Given the description of an element on the screen output the (x, y) to click on. 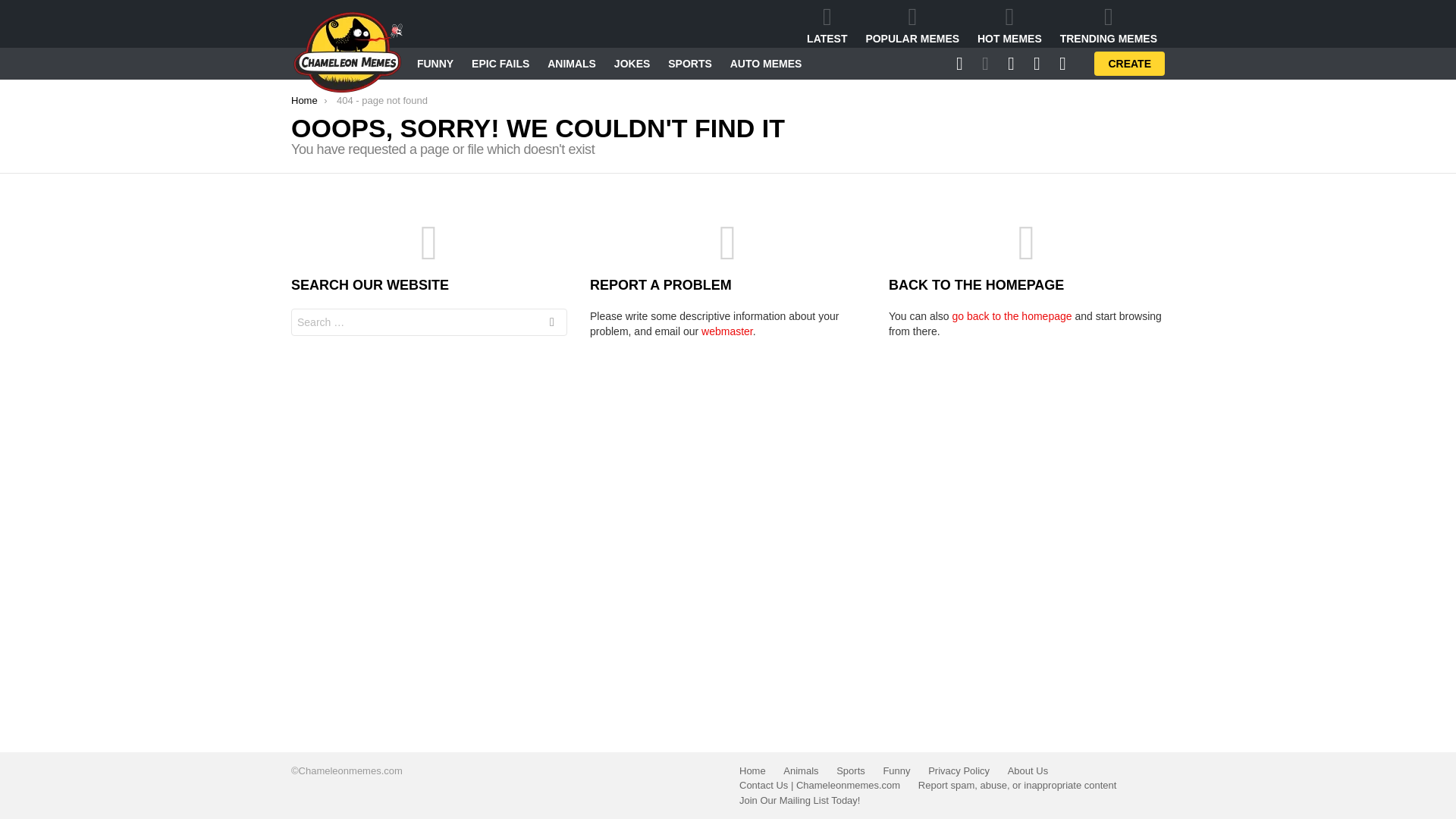
go back to the homepage (1011, 316)
AUTO MEMES (765, 63)
Home (752, 770)
HOT MEMES (1009, 24)
ANIMALS (572, 63)
CREATE (1129, 63)
webmaster (726, 331)
Search for: (429, 321)
TRENDING MEMES (1108, 24)
Home (304, 100)
FUNNY (435, 63)
Subscribe (898, 222)
